Given the description of an element on the screen output the (x, y) to click on. 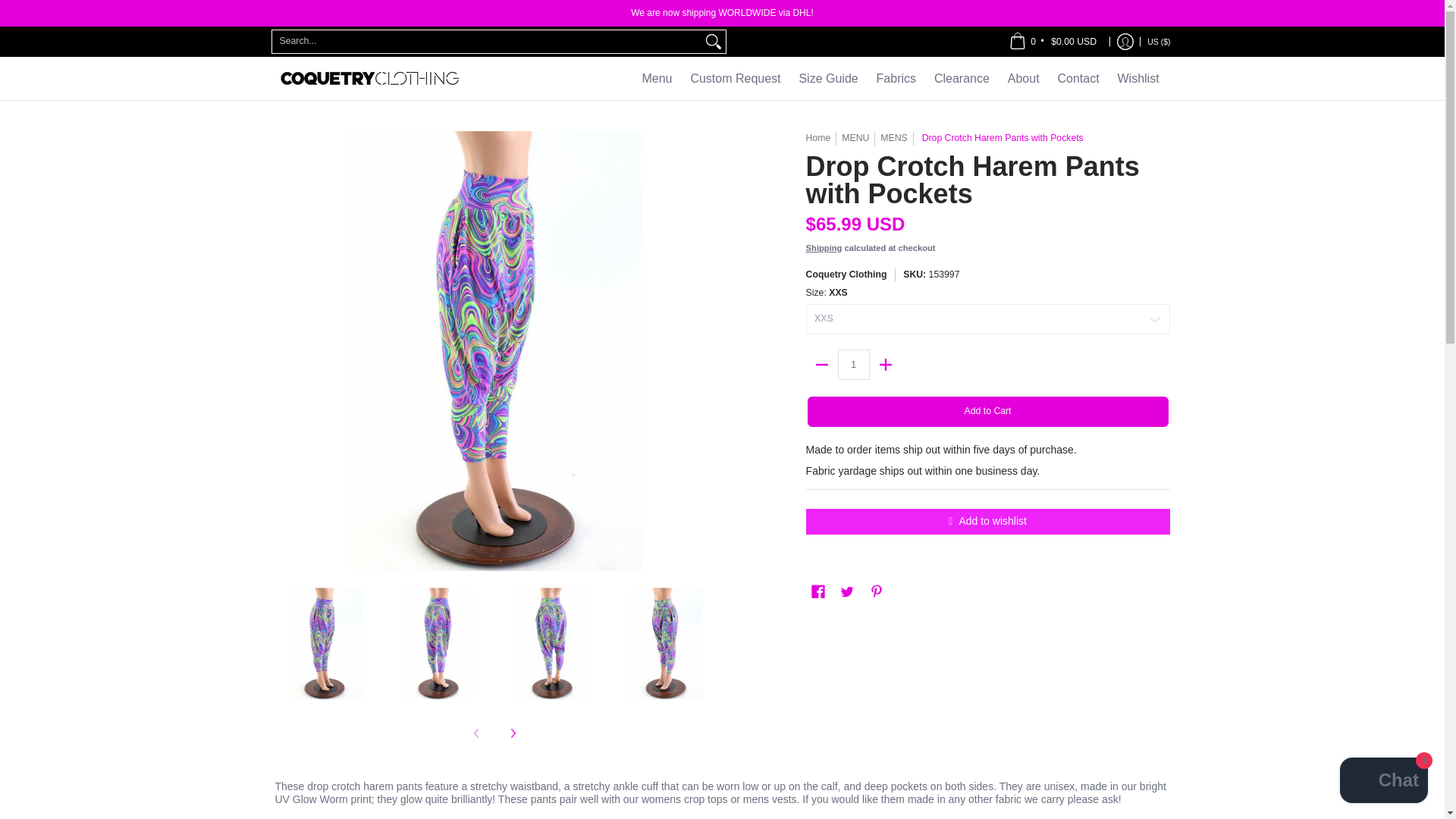
Coquetry Clothing (369, 77)
1 (853, 364)
Cart (1053, 41)
CA (1067, 3)
Log in (1124, 41)
Menu (656, 77)
CV (1076, 28)
BQ (1099, 58)
